Given the description of an element on the screen output the (x, y) to click on. 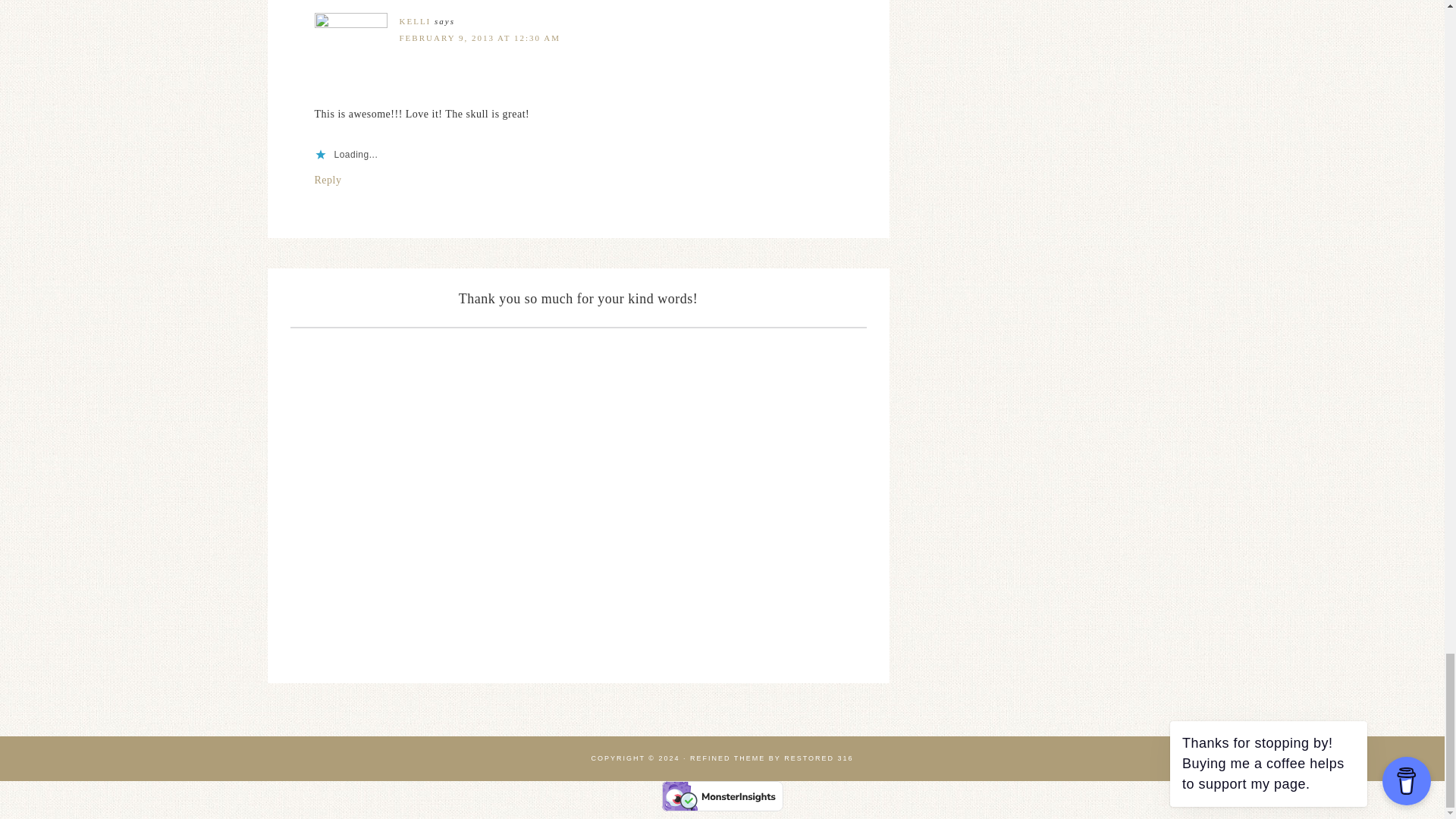
KELLI (414, 20)
FEBRUARY 9, 2013 AT 12:30 AM (478, 37)
Reply (327, 179)
Verified by MonsterInsights (722, 796)
